Given the description of an element on the screen output the (x, y) to click on. 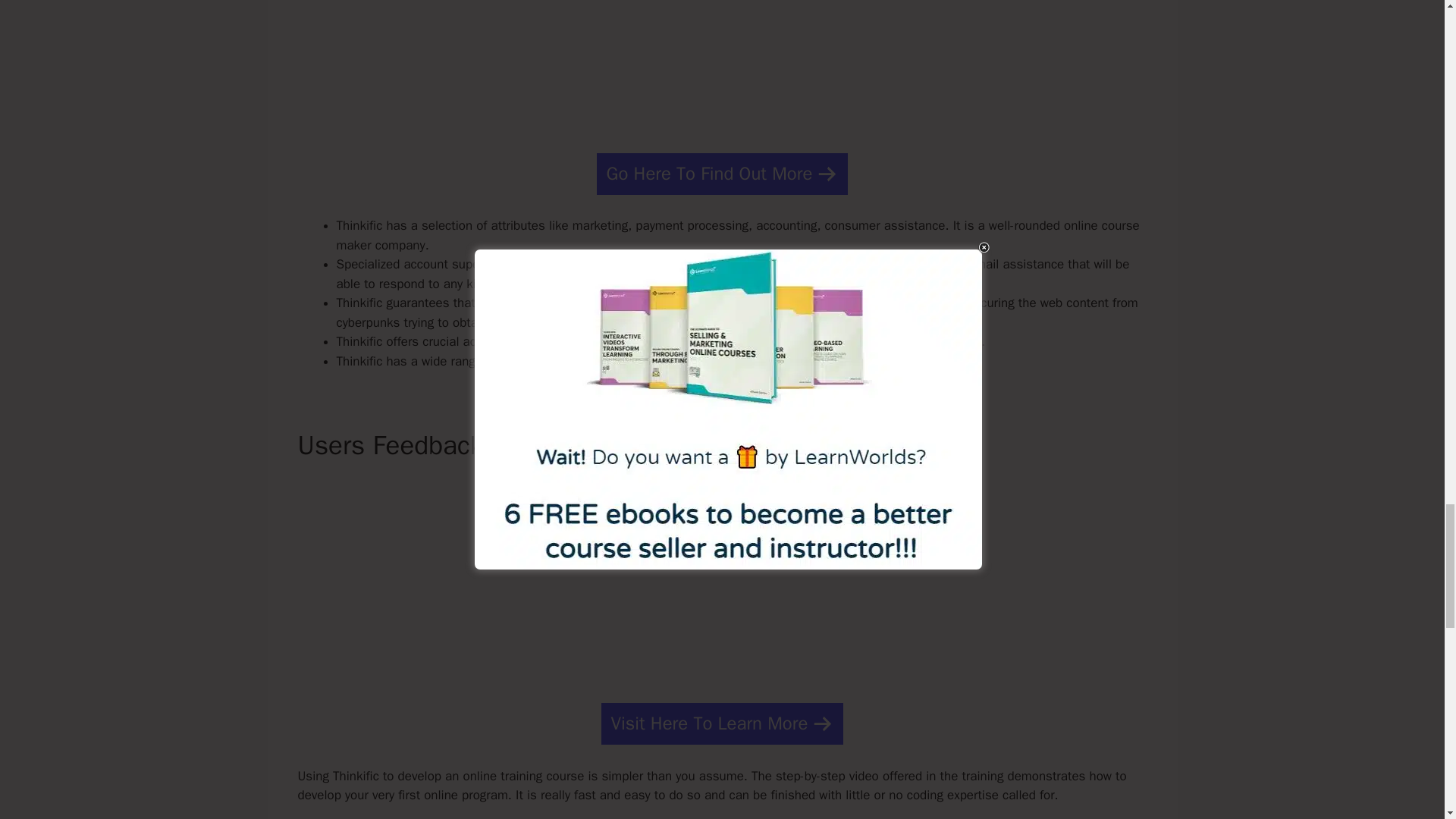
Visit Here To Learn More (722, 723)
Go Here To Find Out More (722, 173)
